Given the description of an element on the screen output the (x, y) to click on. 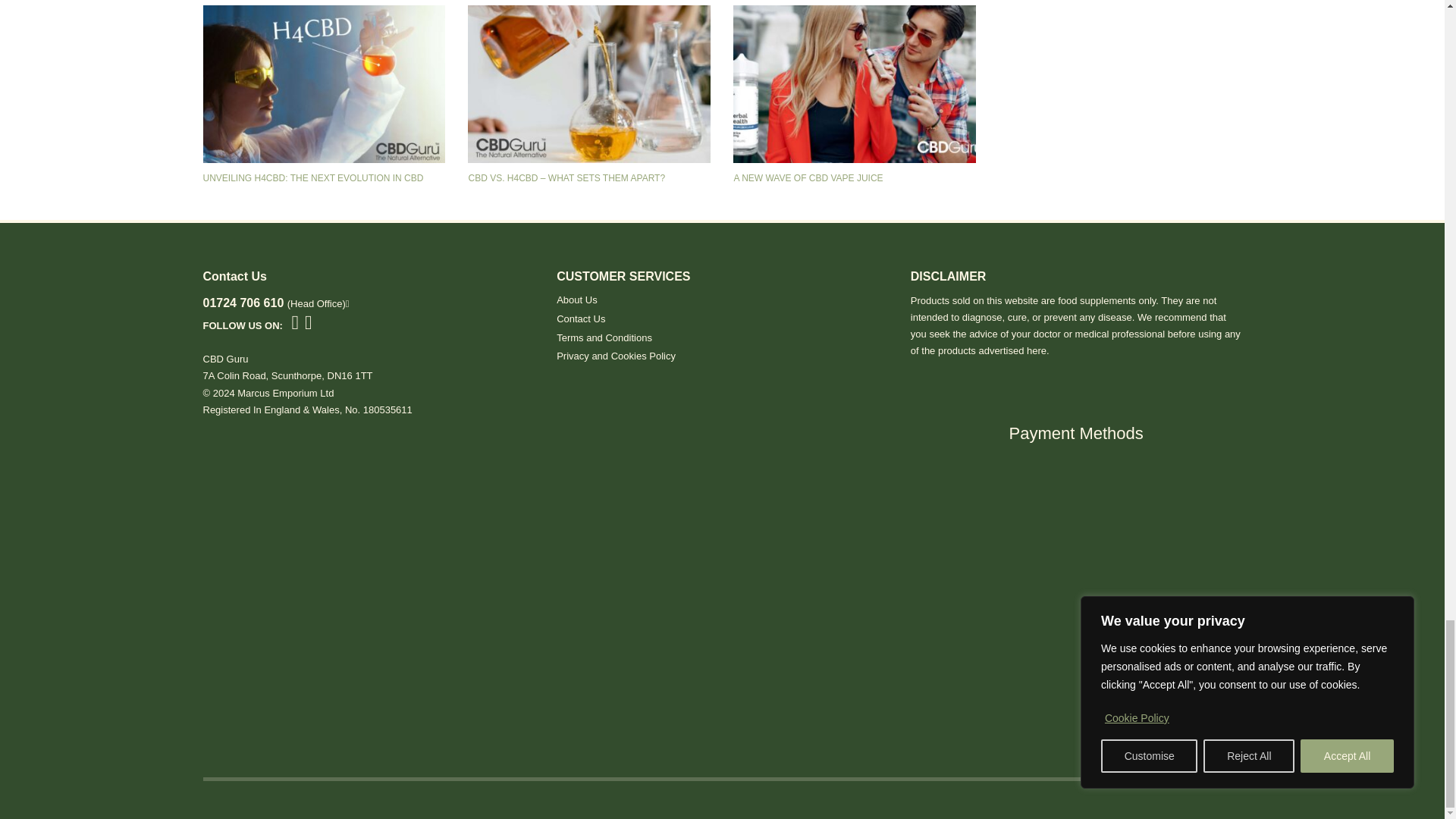
what-is-h4cbd (324, 83)
